Given the description of an element on the screen output the (x, y) to click on. 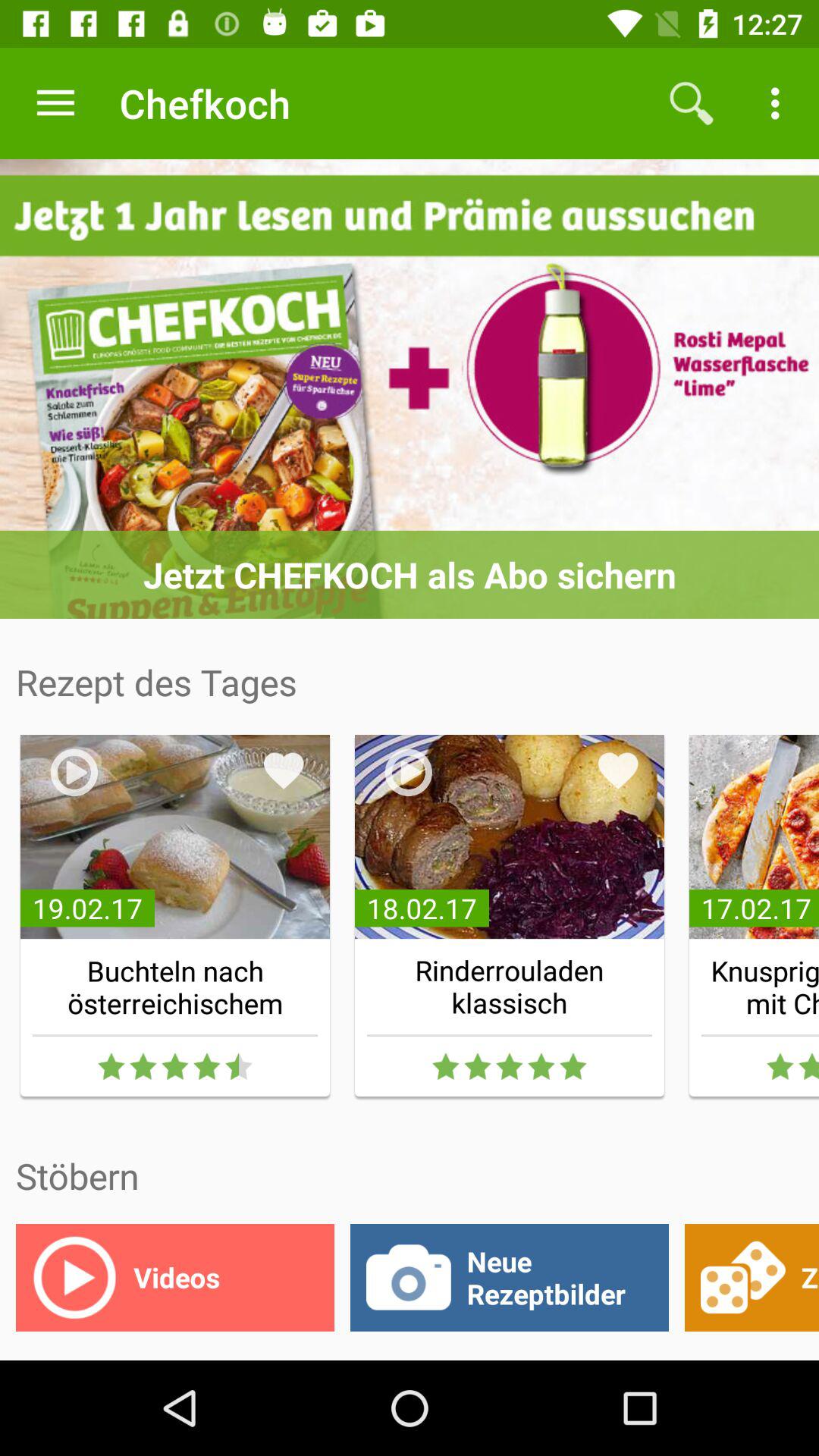
choose icon below the rezept des tages item (283, 770)
